Given the description of an element on the screen output the (x, y) to click on. 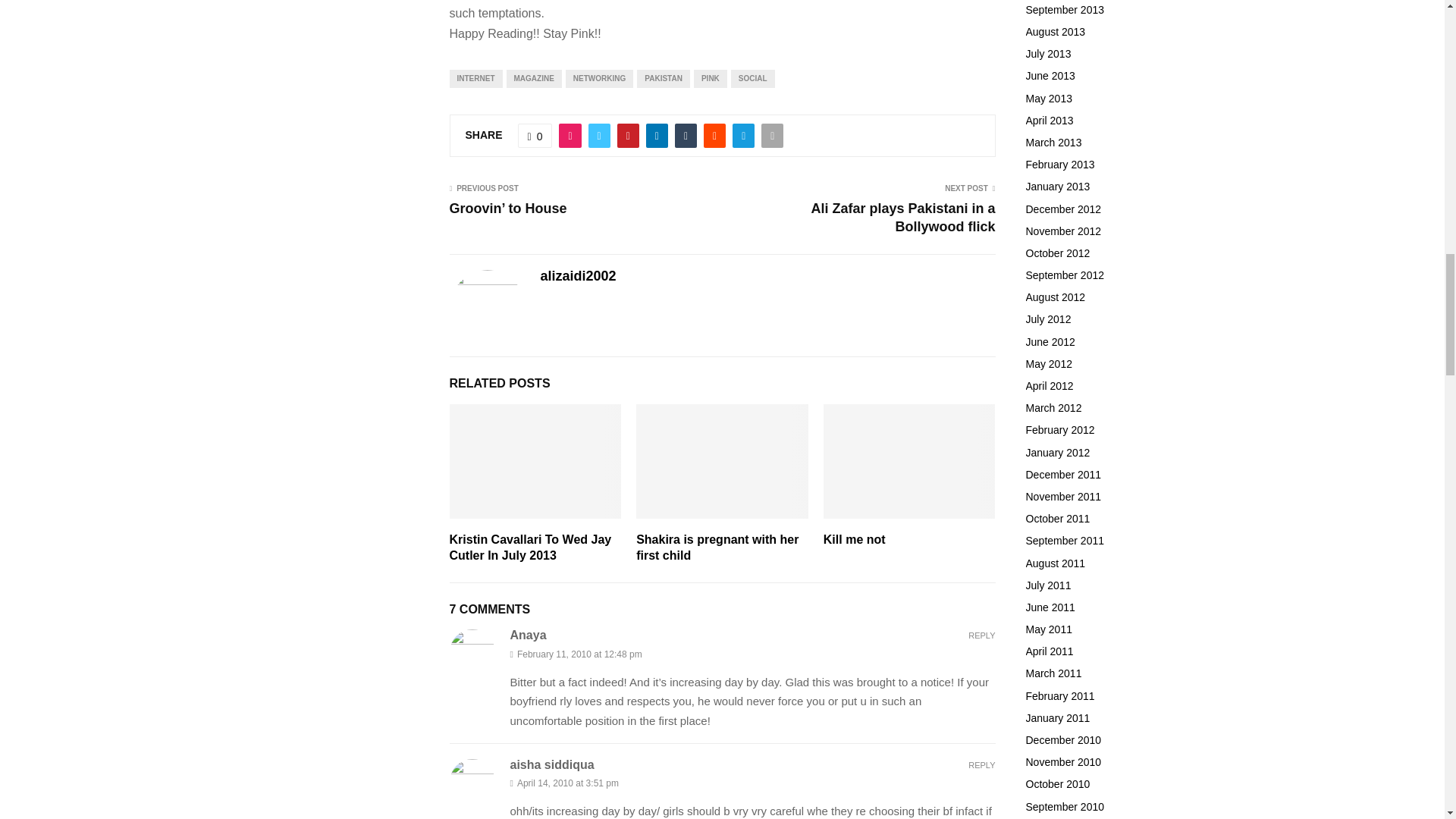
Like (535, 135)
INTERNET (475, 78)
MAGAZINE (534, 78)
